Given the description of an element on the screen output the (x, y) to click on. 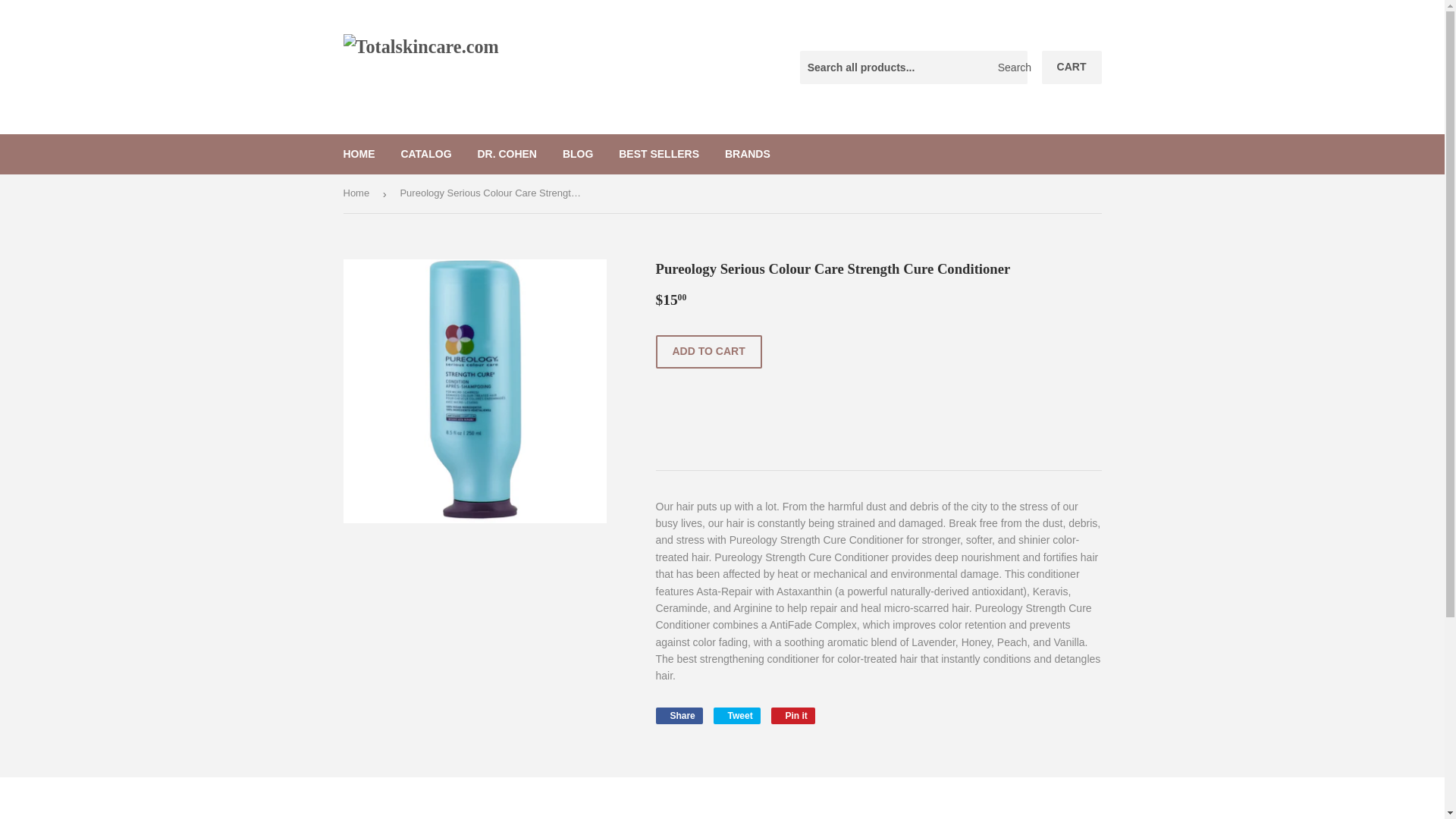
Share on Facebook (678, 715)
BRANDS (747, 153)
Tweet on Twitter (736, 715)
CATALOG (425, 153)
Search (1009, 68)
Pin on Pinterest (793, 715)
ADD TO CART (708, 351)
BEST SELLERS (793, 715)
DR. COHEN (658, 153)
